Given the description of an element on the screen output the (x, y) to click on. 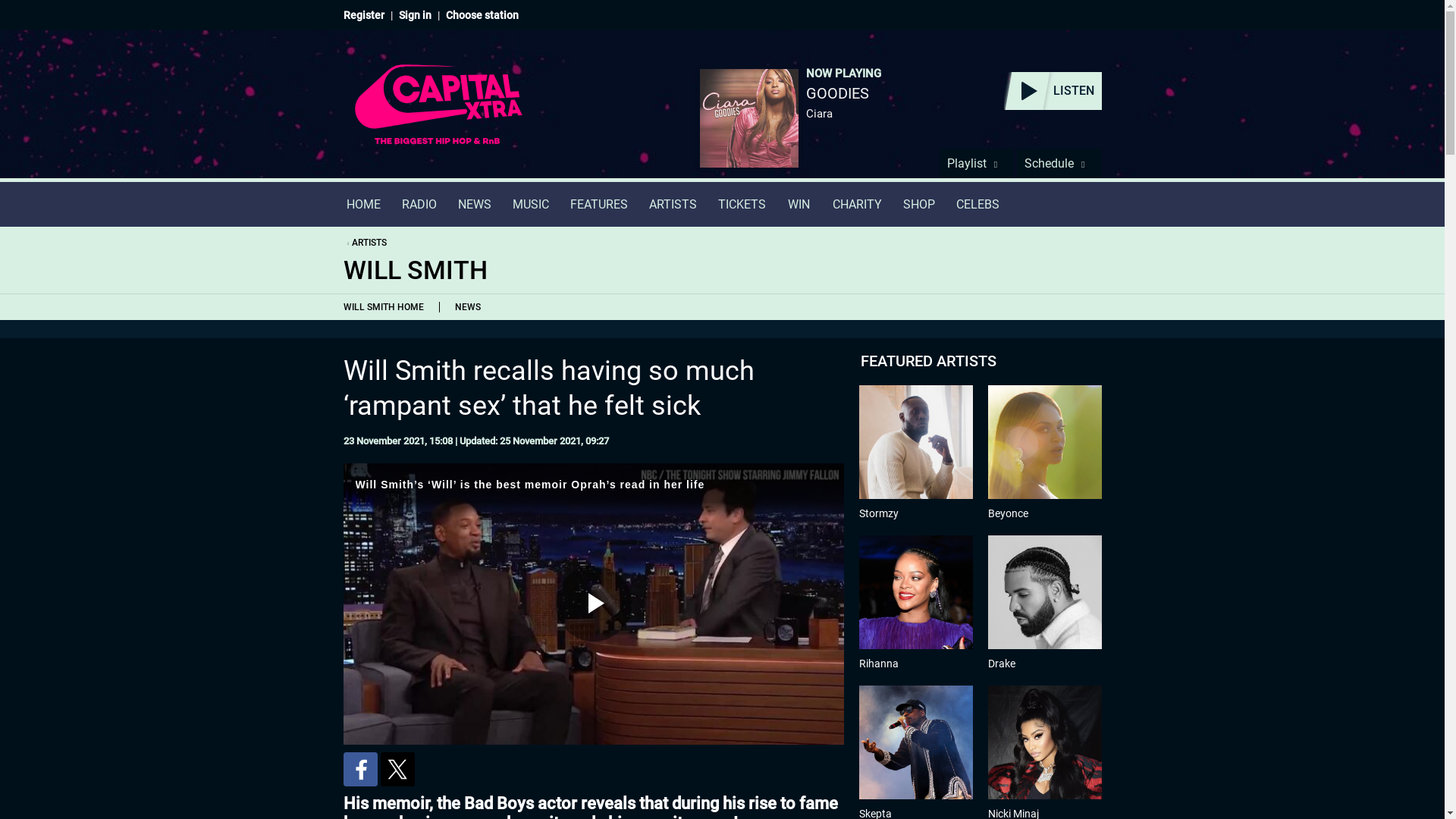
ARTISTS (673, 203)
MUSIC (530, 203)
ARTISTS (364, 242)
Register (363, 15)
WILL SMITH HOME (386, 307)
NEWS (474, 203)
Capital XTRA (437, 113)
CHARITY (857, 203)
TICKETS (741, 203)
LISTEN (1053, 90)
RADIO (418, 203)
Choose station (481, 15)
NEWS (466, 307)
FEATURES (599, 203)
Schedule (1058, 163)
